Given the description of an element on the screen output the (x, y) to click on. 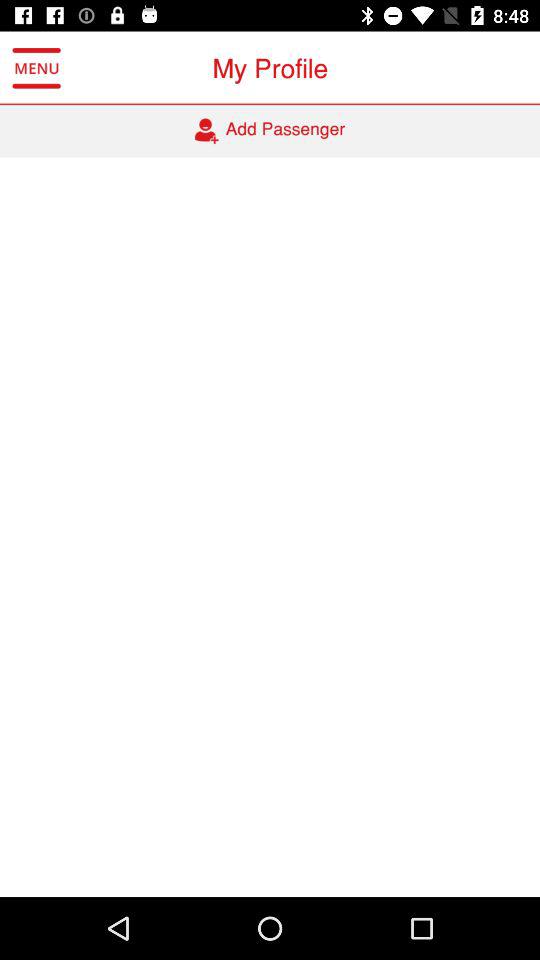
launch the icon at the top left corner (36, 68)
